Given the description of an element on the screen output the (x, y) to click on. 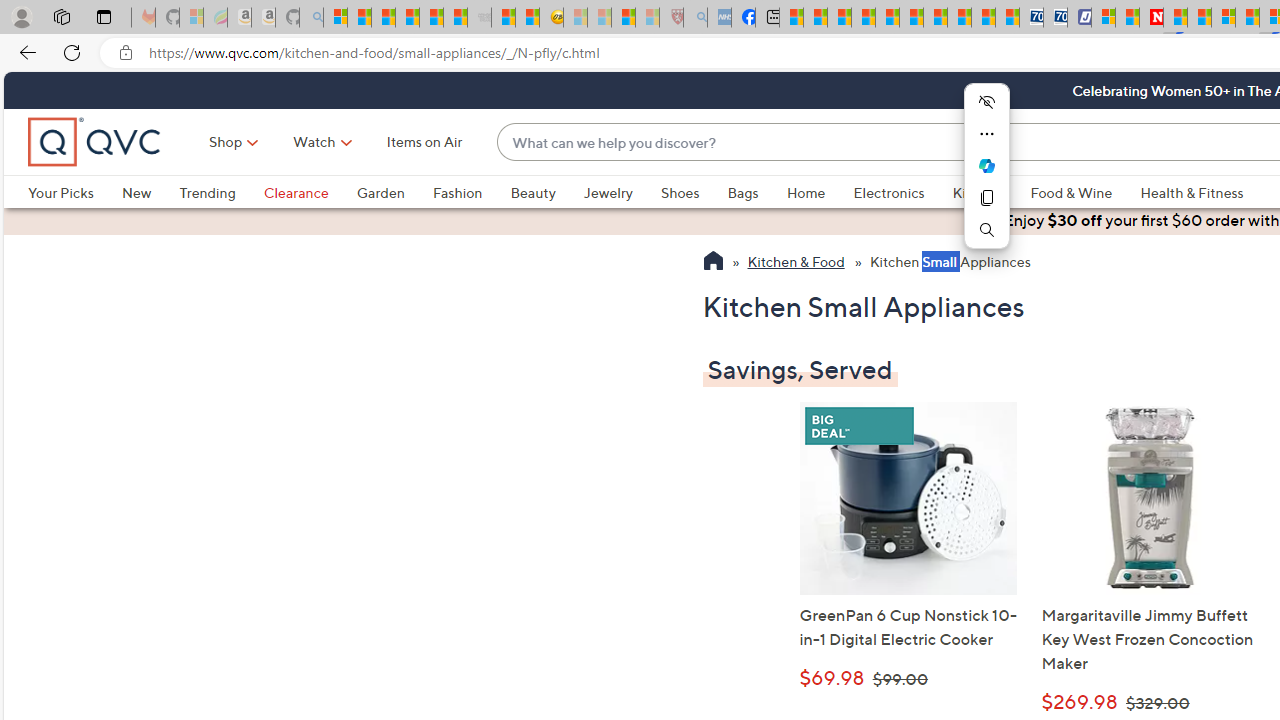
14 Common Myths Debunked By Scientific Facts (1198, 17)
Kitchen (977, 192)
Clearance (309, 192)
Stocks - MSN (455, 17)
Kitchen (991, 192)
Health & Fitness (1192, 192)
Food & Wine (1071, 192)
Mini menu on text selection (986, 165)
